Given the description of an element on the screen output the (x, y) to click on. 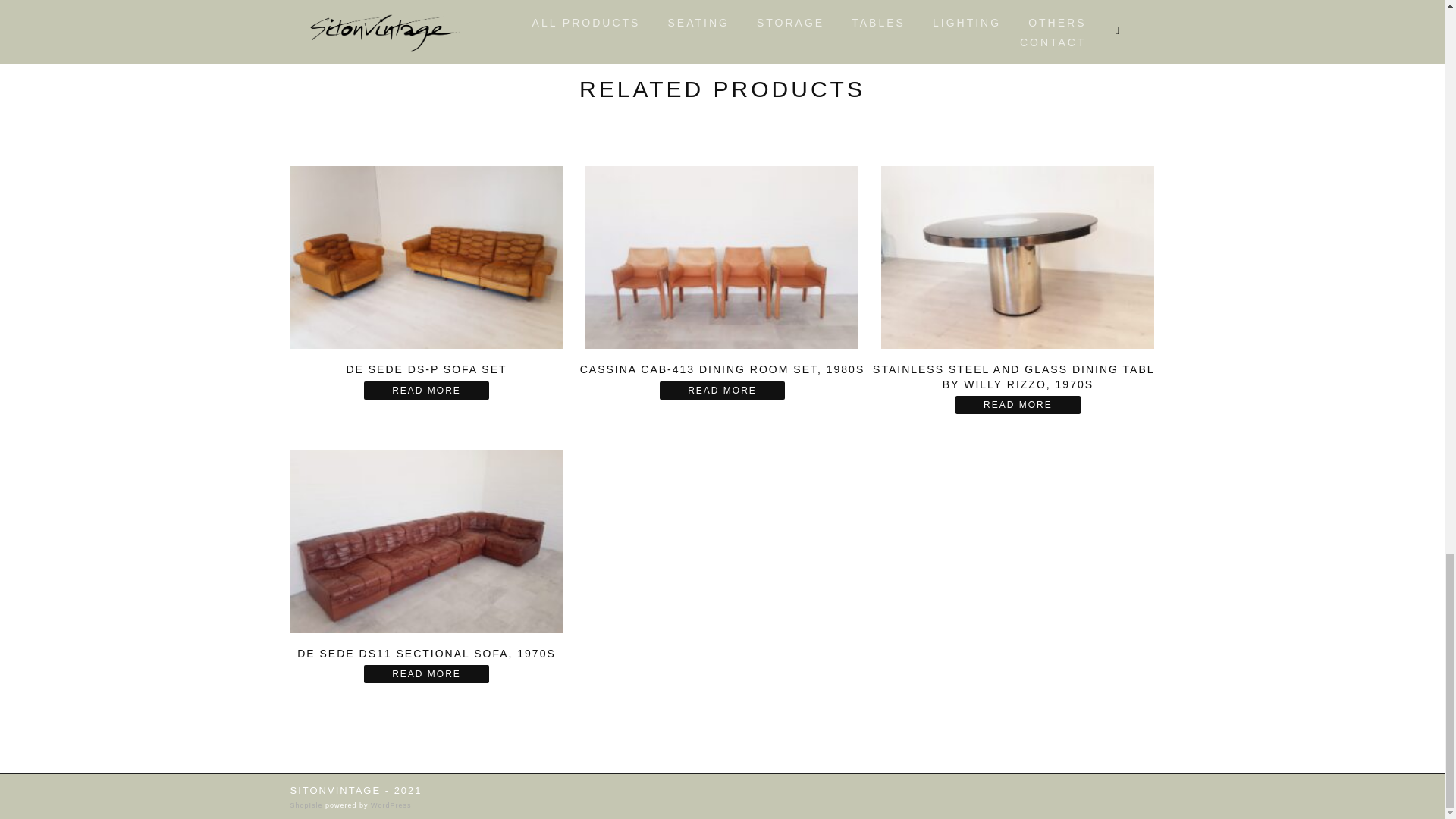
READ MORE (426, 674)
Cassina CAB 413 (721, 257)
DE SEDE DS11 SECTIONAL SOFA, 1970S (427, 564)
ShopIsle (306, 805)
READ MORE (721, 390)
De Sede DS11 (427, 541)
READ MORE (1017, 404)
DE SEDE DS-P SOFA SET (427, 279)
READ MORE (426, 390)
CASSINA CAB-413 DINING ROOM SET, 1980S (721, 279)
